Given the description of an element on the screen output the (x, y) to click on. 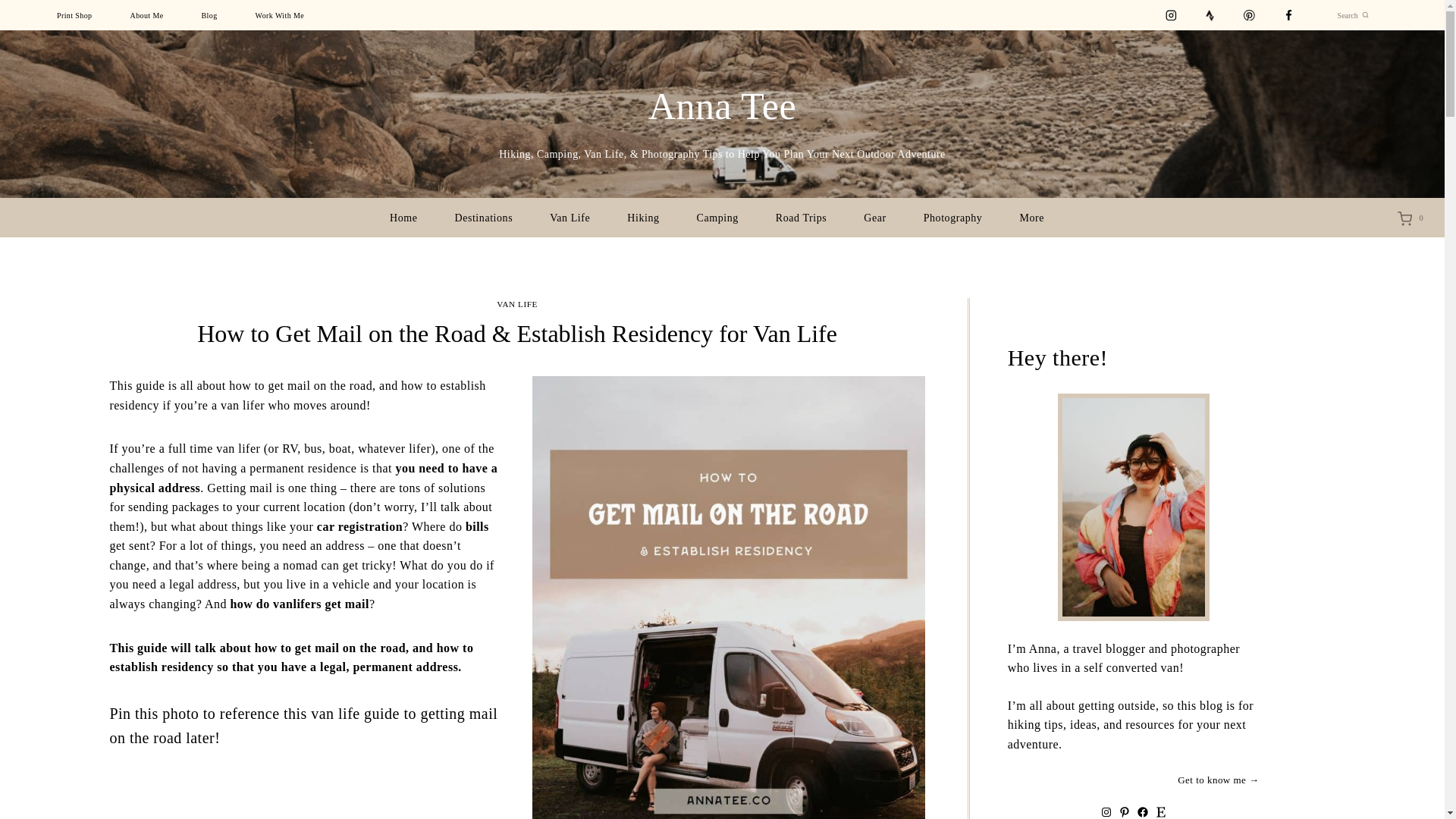
About Me (147, 15)
Van Life (569, 218)
More (1037, 218)
Road Trips (800, 218)
Gear (874, 218)
Hiking (643, 218)
Print Shop (74, 15)
Photography (952, 218)
VAN LIFE (516, 303)
Destinations (483, 218)
